Given the description of an element on the screen output the (x, y) to click on. 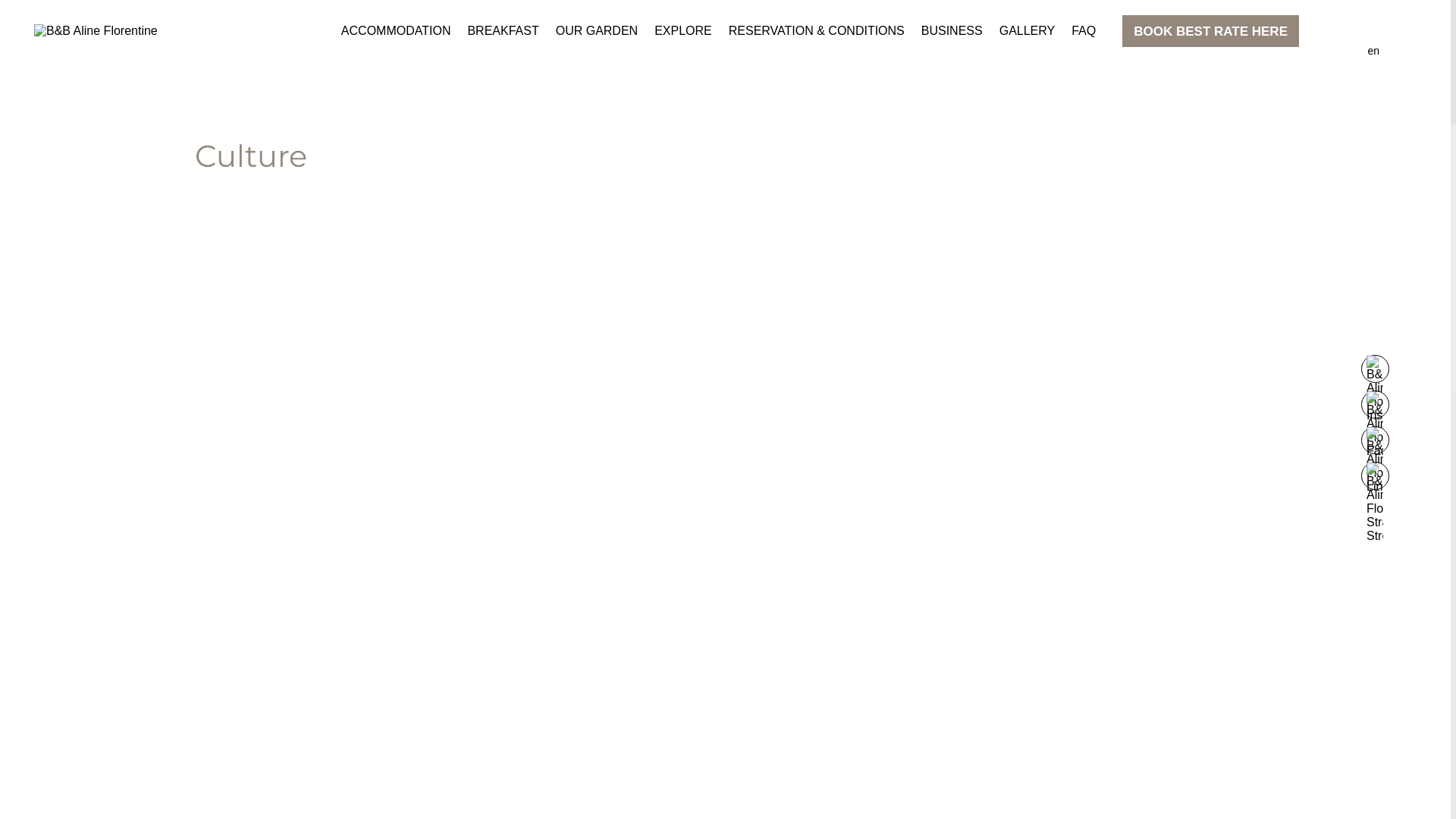
GALLERY Element type: text (1027, 30)
OUR GARDEN Element type: text (596, 30)
B&B Aline Florentine Facebook Element type: hover (1374, 404)
FAQ Element type: text (1083, 30)
B&B Aline Florentine Element type: hover (95, 30)
B&B Aline Florentine Instagram Element type: hover (1374, 368)
B&B Aline Florentine Straffe Streek Element type: hover (1374, 475)
BREAKFAST Element type: text (502, 30)
RESERVATION & CONDITIONS Element type: text (816, 30)
ACCOMMODATION Element type: text (396, 30)
EXPLORE Element type: text (683, 30)
BOOK BEST RATE HERE Element type: text (1210, 31)
BUSINESS Element type: text (951, 30)
B&B Aline Florentine Linkedin Element type: hover (1374, 440)
